Given the description of an element on the screen output the (x, y) to click on. 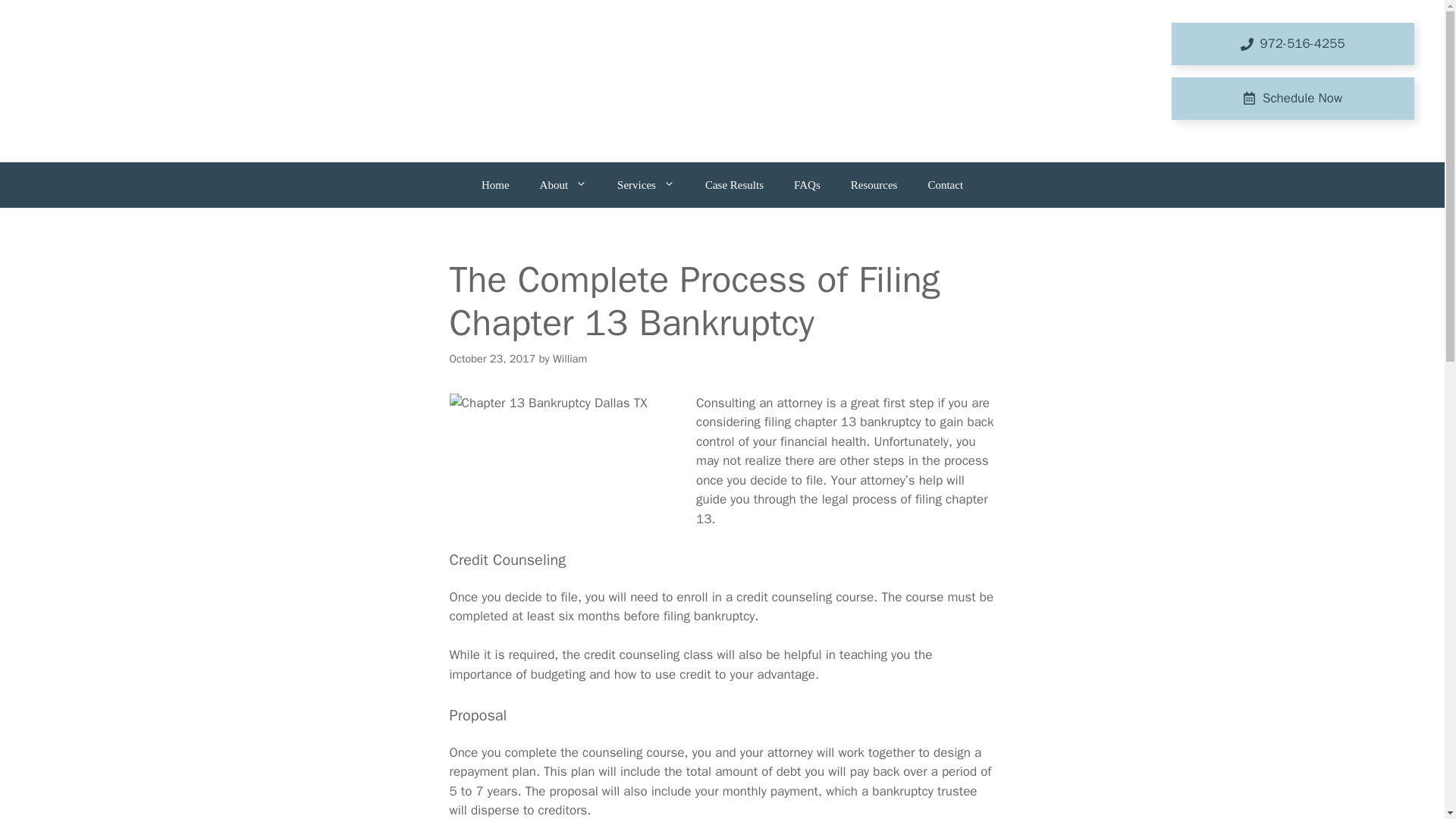
Schedule Now (1292, 97)
972-516-4255 (1292, 43)
FAQs (806, 185)
View all posts by William (569, 358)
About (563, 185)
William (569, 358)
Case Results (734, 185)
Contact (945, 185)
Chapter 13 Bankruptcy Dallas TX (562, 469)
Resources (873, 185)
